Given the description of an element on the screen output the (x, y) to click on. 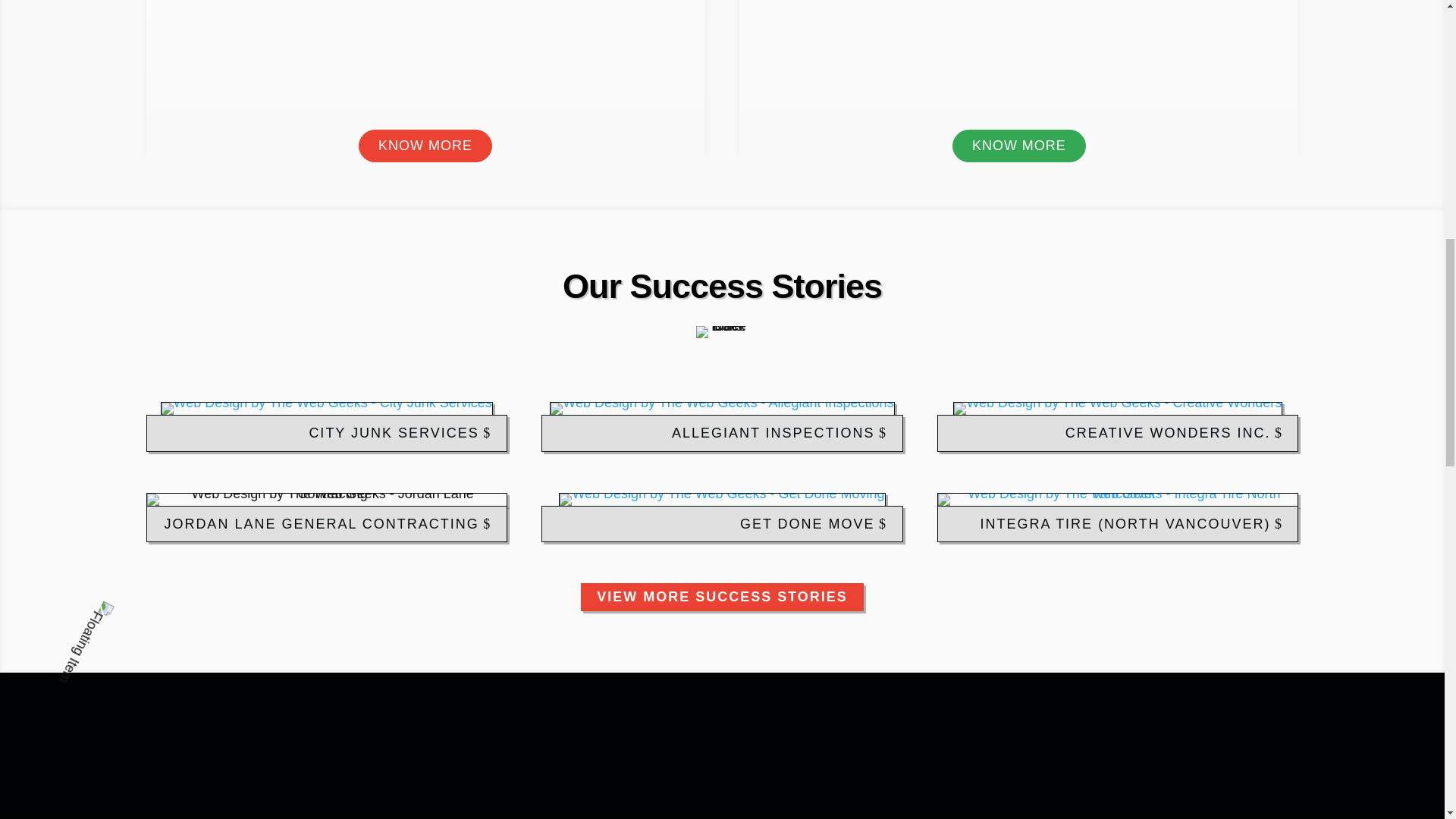
Web Design by The Web Geeks - Integra Tire North Vancouver (1117, 492)
GET DONE MOVE (721, 523)
CITY JUNK SERVICES (325, 433)
JORDAN LANE GENERAL CONTRACTING (325, 523)
Web Design by The Web Geeks - Jordan Lane Contracting (326, 492)
KNOW MORE (1019, 145)
CREATIVE WONDERS INC. (1117, 433)
KNOW MORE (425, 145)
VIEW MORE SUCCESS STORIES (721, 596)
Web Design by The Web Geeks - City Junk Services (326, 402)
